Given the description of an element on the screen output the (x, y) to click on. 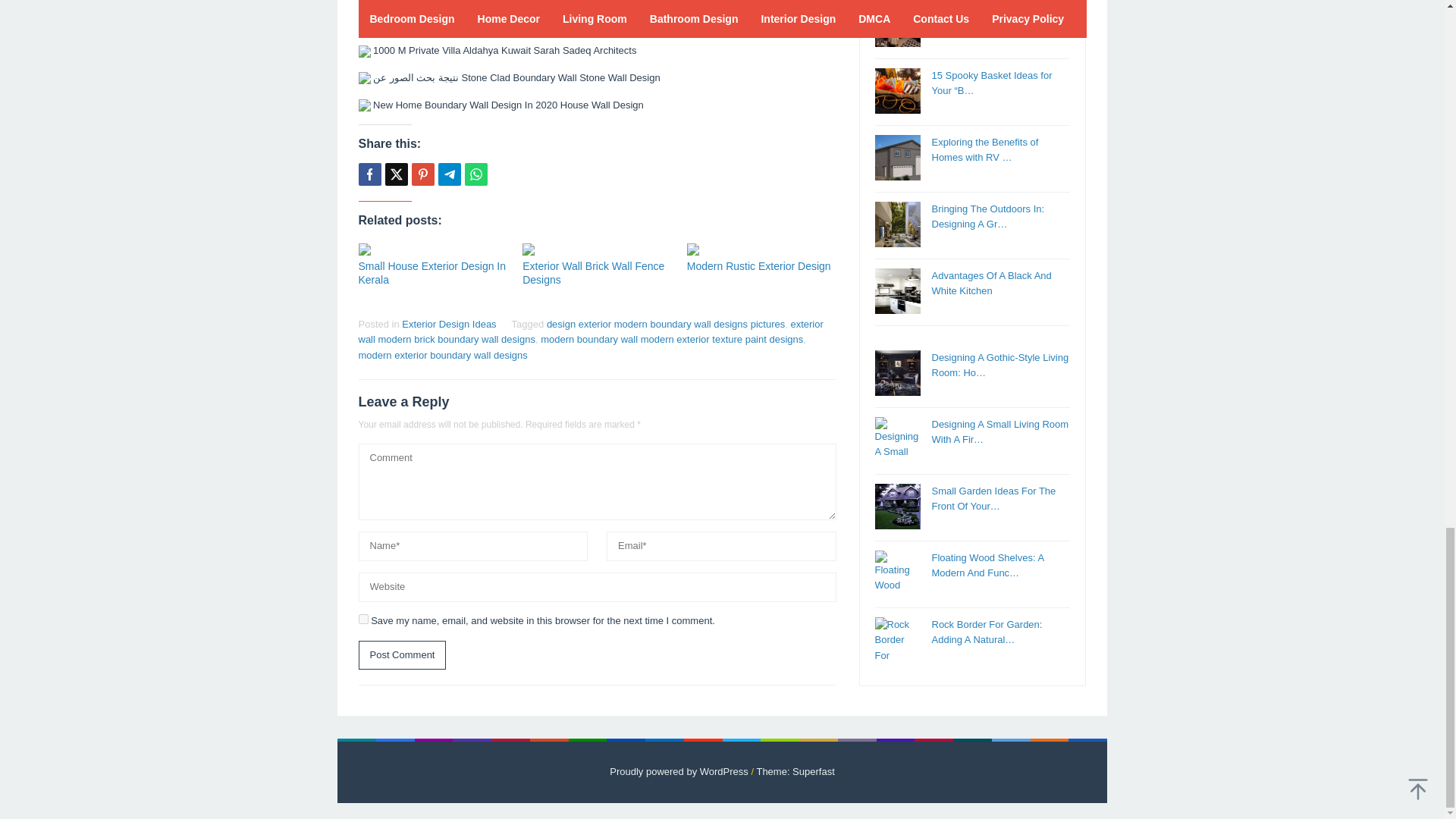
Permalink to: Small House Exterior Design In Kerala (431, 272)
Tweet this (396, 173)
yes (363, 619)
Permalink to: Small House Exterior Design In Kerala (432, 249)
Pin this (421, 173)
Telegram Share (449, 173)
Share this (369, 173)
Permalink to: Exterior Wall Brick Wall Fence Designs (592, 272)
Permalink to: Exterior Wall Brick Wall Fence Designs (596, 249)
Post Comment (401, 654)
Whatsapp (475, 173)
Permalink to: Modern Rustic Exterior Design (761, 249)
